Given the description of an element on the screen output the (x, y) to click on. 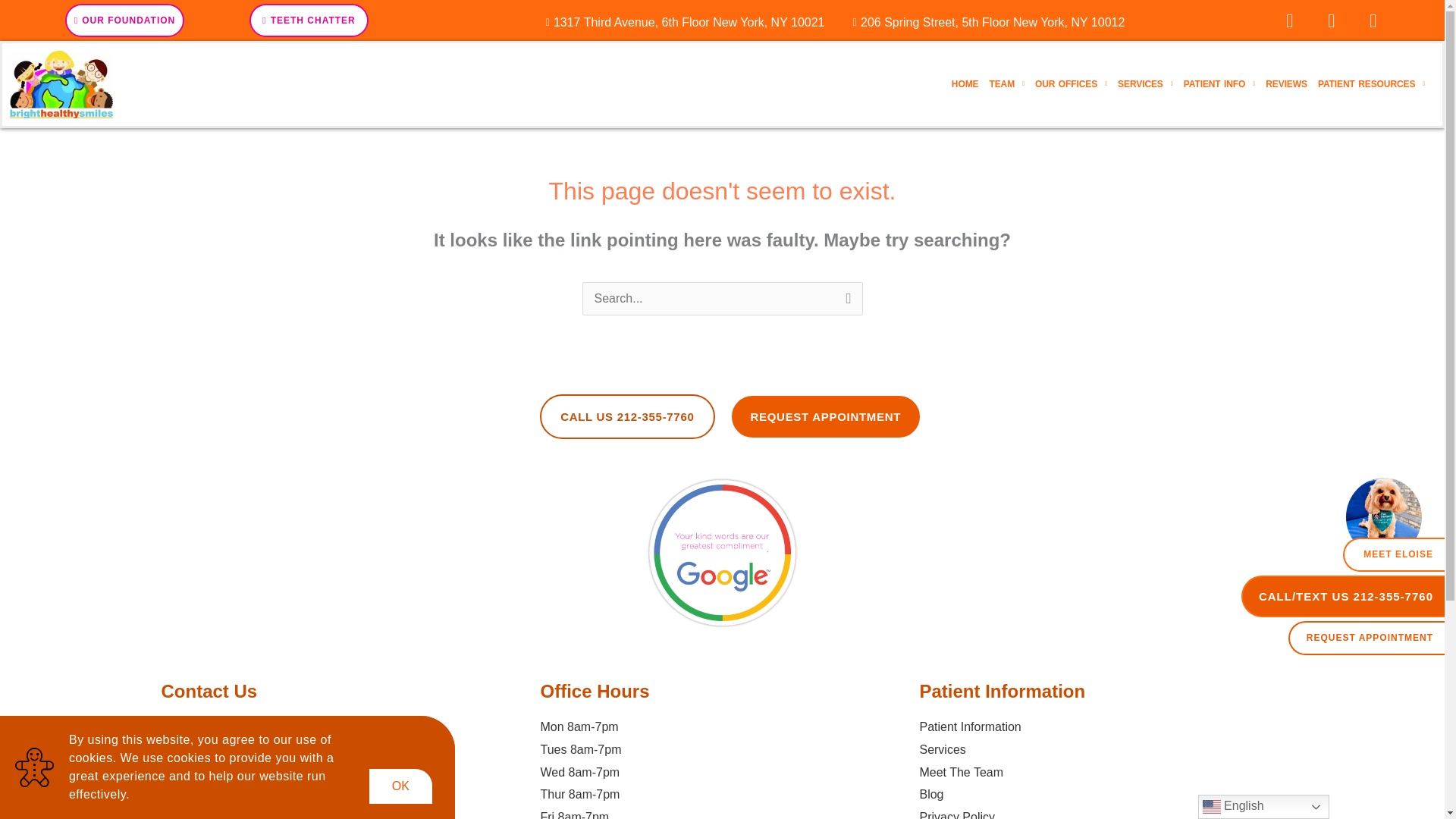
1317 Third Avenue, 6th Floor New York, NY 10021 (679, 22)
Facebook (1289, 20)
Tiktok (1372, 20)
OUR FOUNDATION (124, 20)
cropped-bhs-logo-optimize-1.jpg (61, 83)
Instagram (1332, 20)
206 Spring Street, 5th Floor New York, NY 10012 (983, 22)
OUR OFFICES (1070, 83)
SERVICES (1145, 83)
TEETH CHATTER (308, 20)
